Given the description of an element on the screen output the (x, y) to click on. 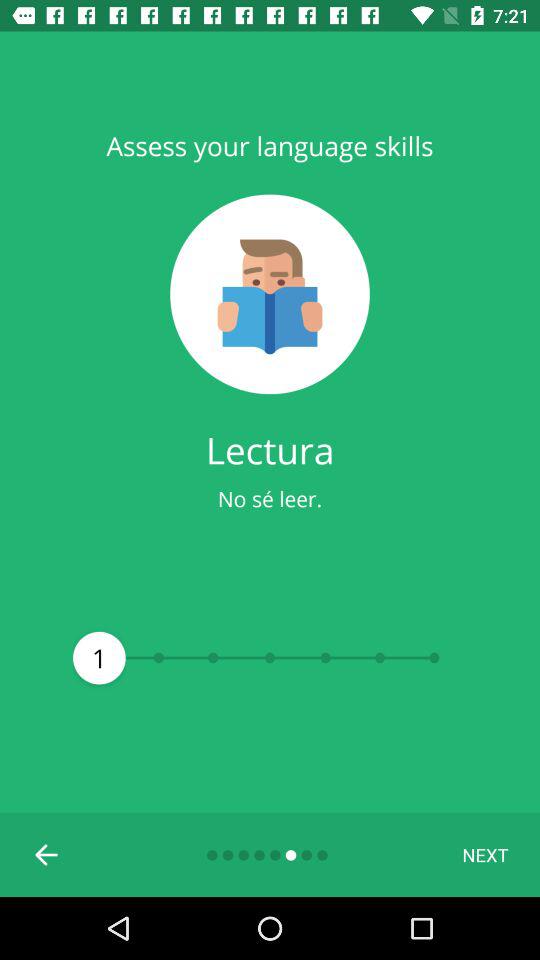
previous screen (47, 855)
